Given the description of an element on the screen output the (x, y) to click on. 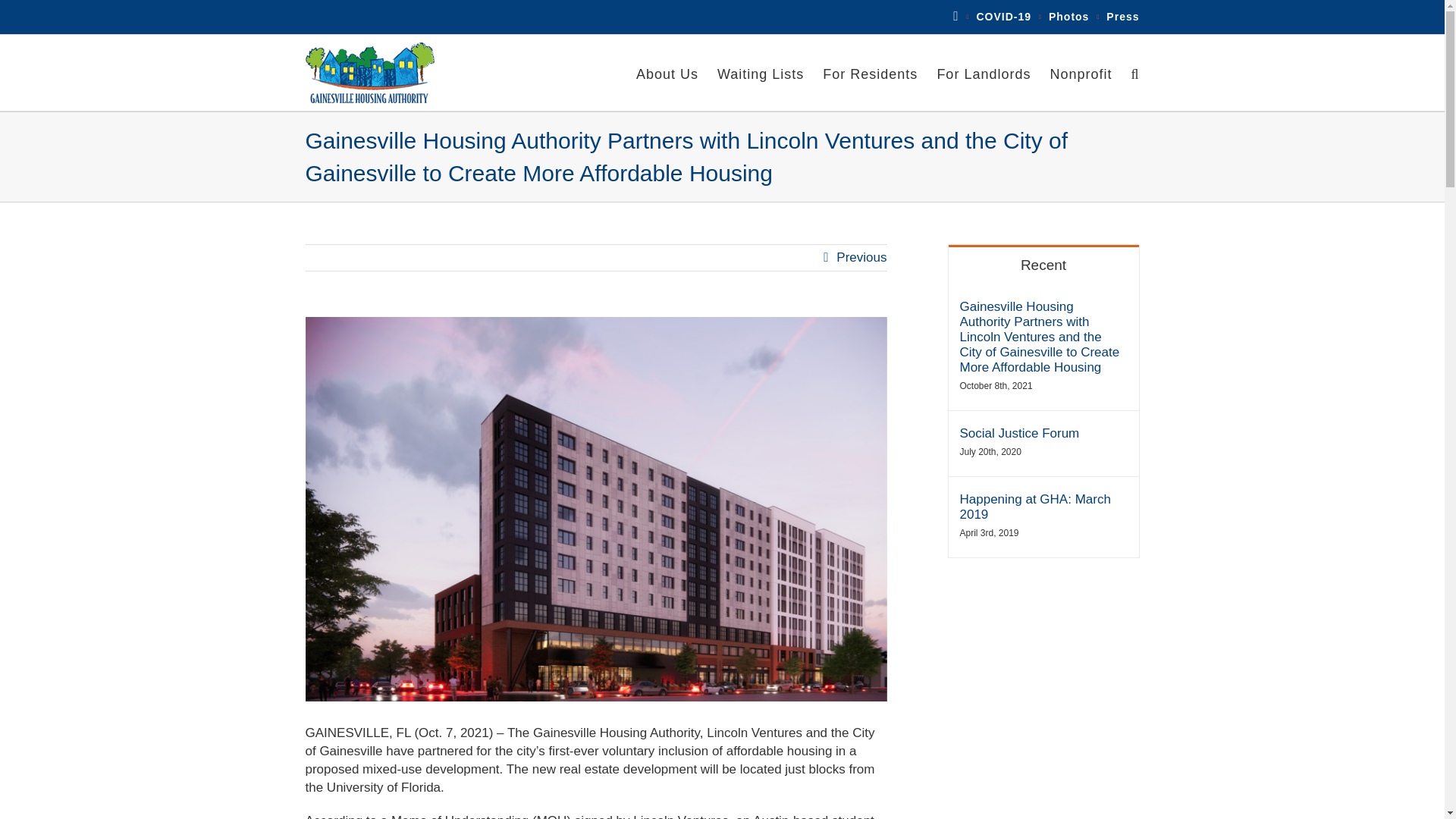
For Residents (869, 72)
Waiting Lists (760, 72)
Press (1122, 16)
COVID-19 (1002, 16)
Photos (1068, 16)
